Given the description of an element on the screen output the (x, y) to click on. 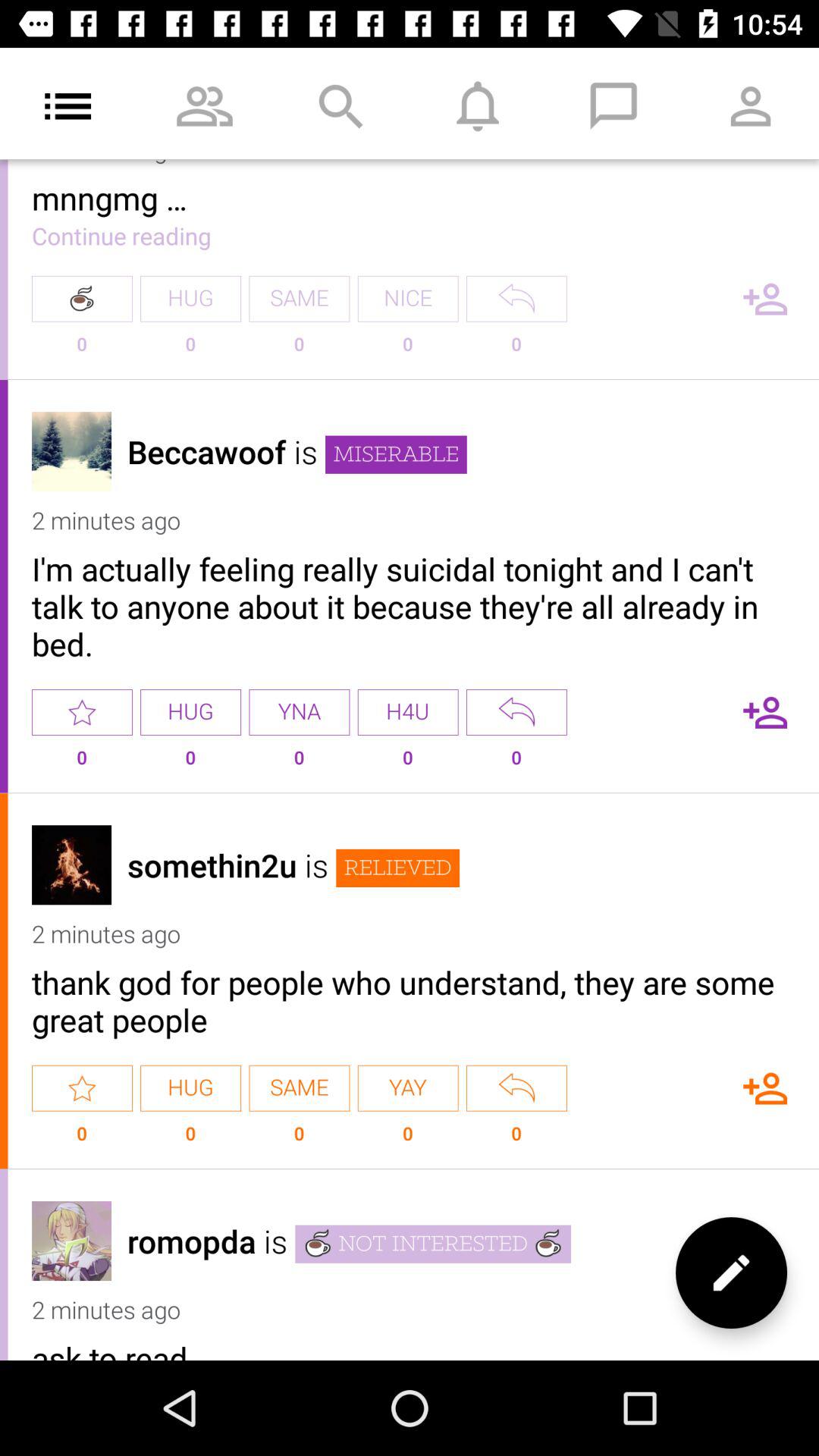
go back (516, 1088)
